Given the description of an element on the screen output the (x, y) to click on. 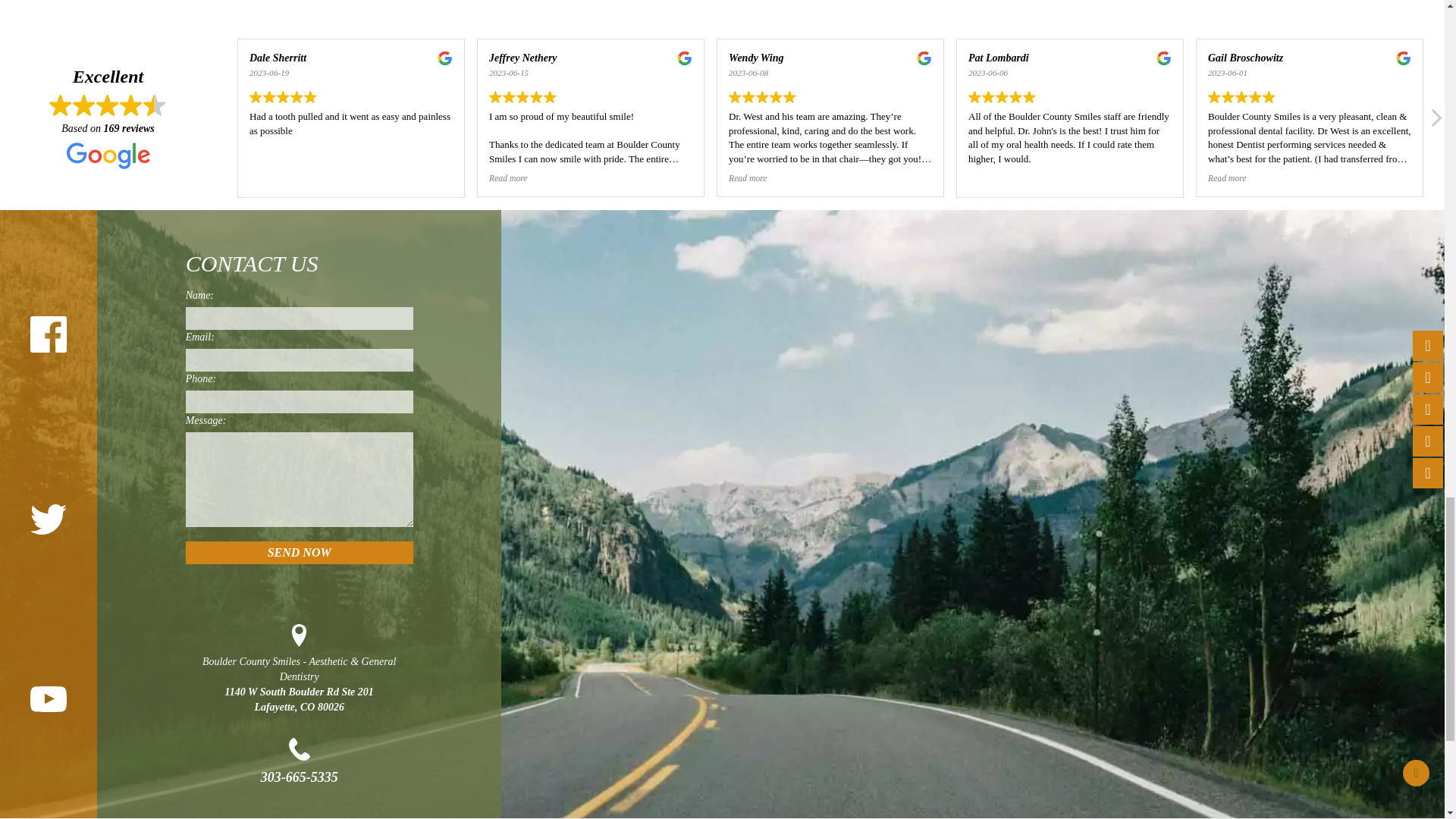
Send Now (299, 552)
Follow Us on Facebook (48, 334)
Follow Us on YouTube (48, 698)
Follow Us on Twitter (48, 519)
